Given the description of an element on the screen output the (x, y) to click on. 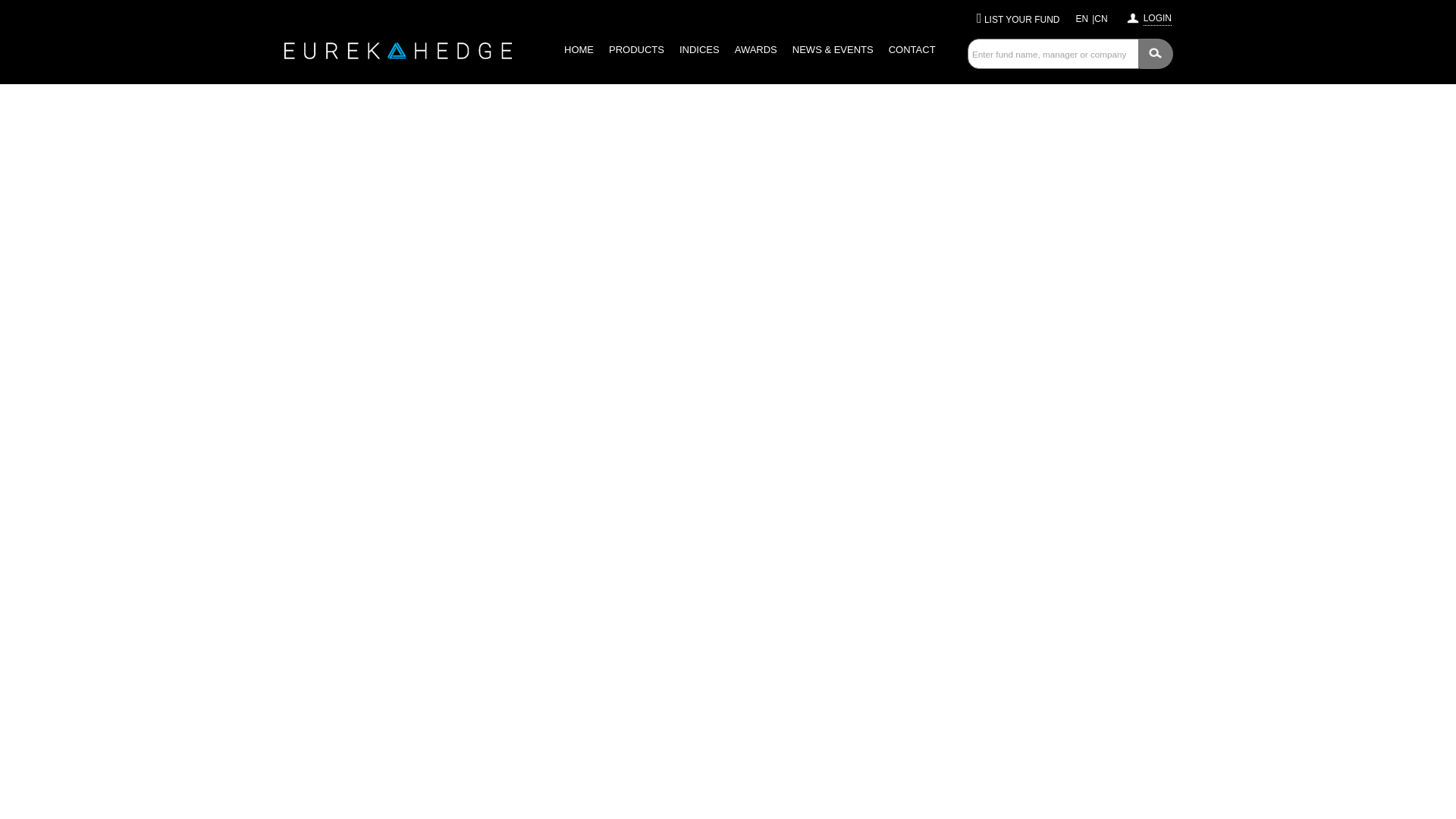
PRODUCTS (636, 50)
CN (1100, 18)
LIST YOUR FUND (1021, 19)
LOGIN (1157, 16)
HOME (578, 50)
EN (1082, 18)
INDICES (698, 50)
